Given the description of an element on the screen output the (x, y) to click on. 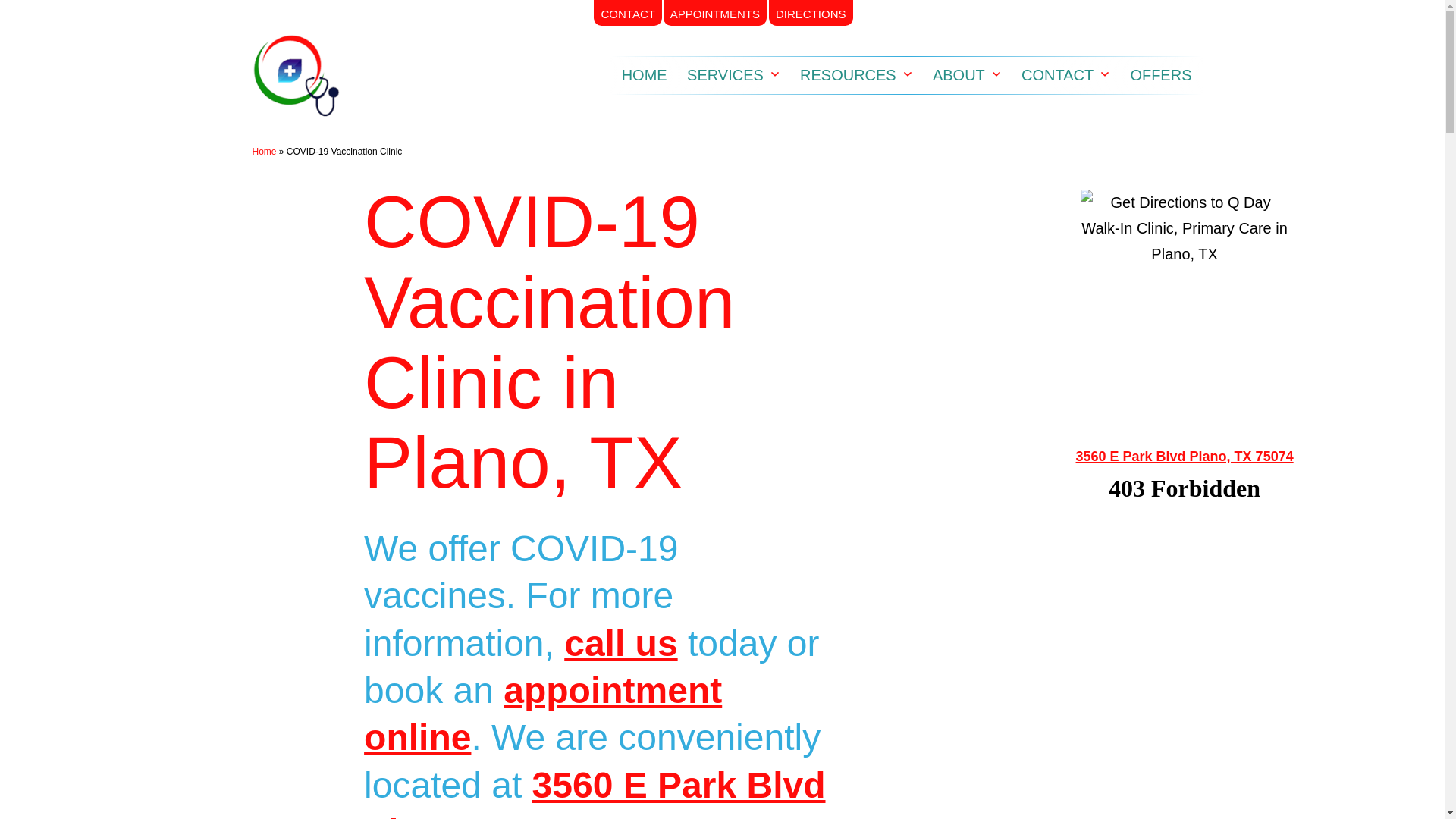
APPOINTMENTS (715, 12)
DIRECTIONS (810, 12)
RESOURCES (847, 75)
ABOUT (958, 75)
HOME (644, 75)
SERVICES (725, 75)
CONTACT (627, 12)
